Given the description of an element on the screen output the (x, y) to click on. 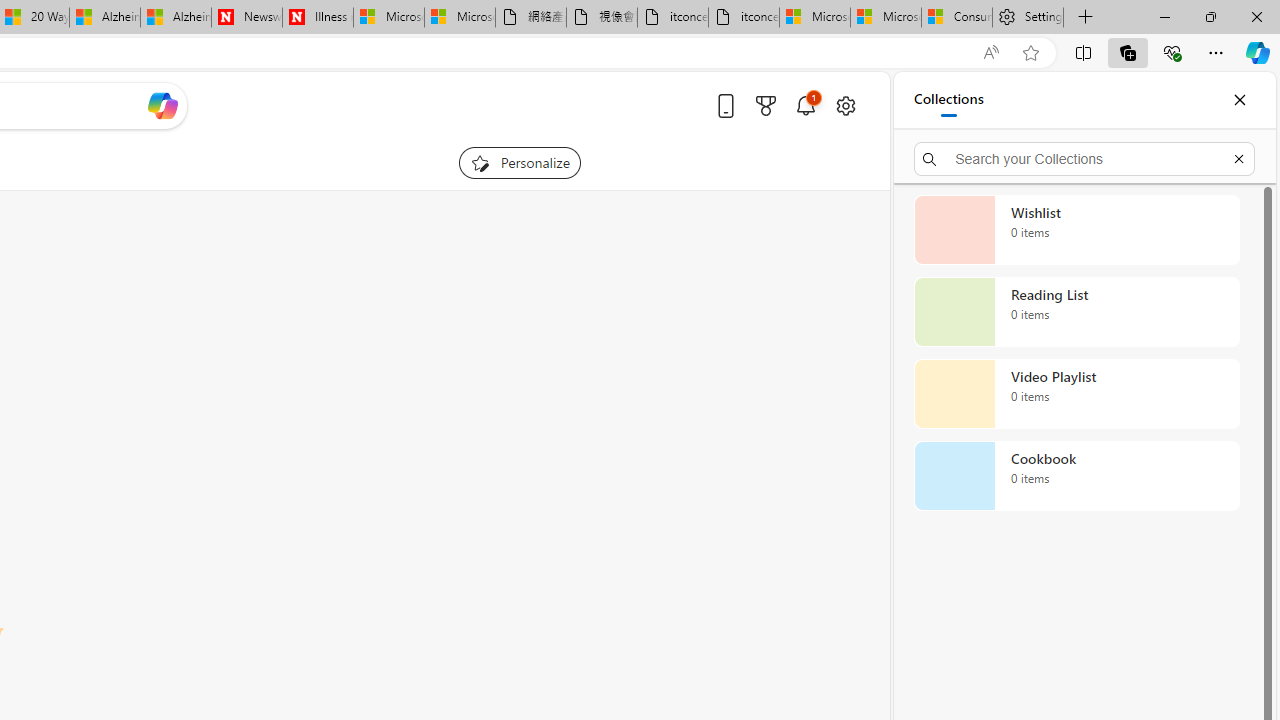
Illness news & latest pictures from Newsweek.com (317, 17)
Search your Collections (1084, 158)
Video Playlist collection, 0 items (1076, 394)
Cookbook collection, 0 items (1076, 475)
